Given the description of an element on the screen output the (x, y) to click on. 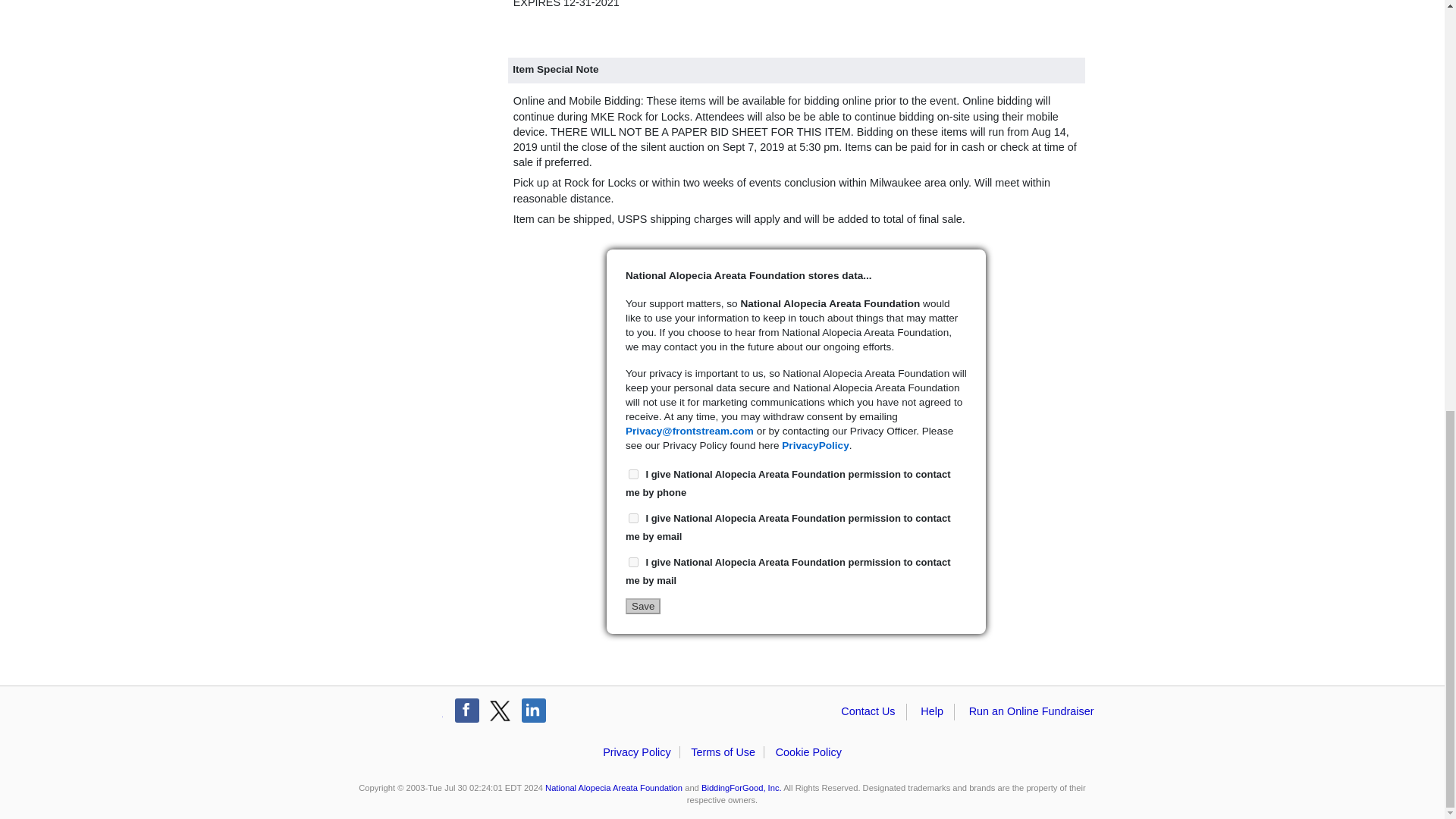
true (633, 518)
Follow on Twitter (499, 710)
Follow on Facebook (466, 710)
Save (643, 606)
true (633, 562)
Follow on Linked In (533, 710)
true (633, 474)
